Given the description of an element on the screen output the (x, y) to click on. 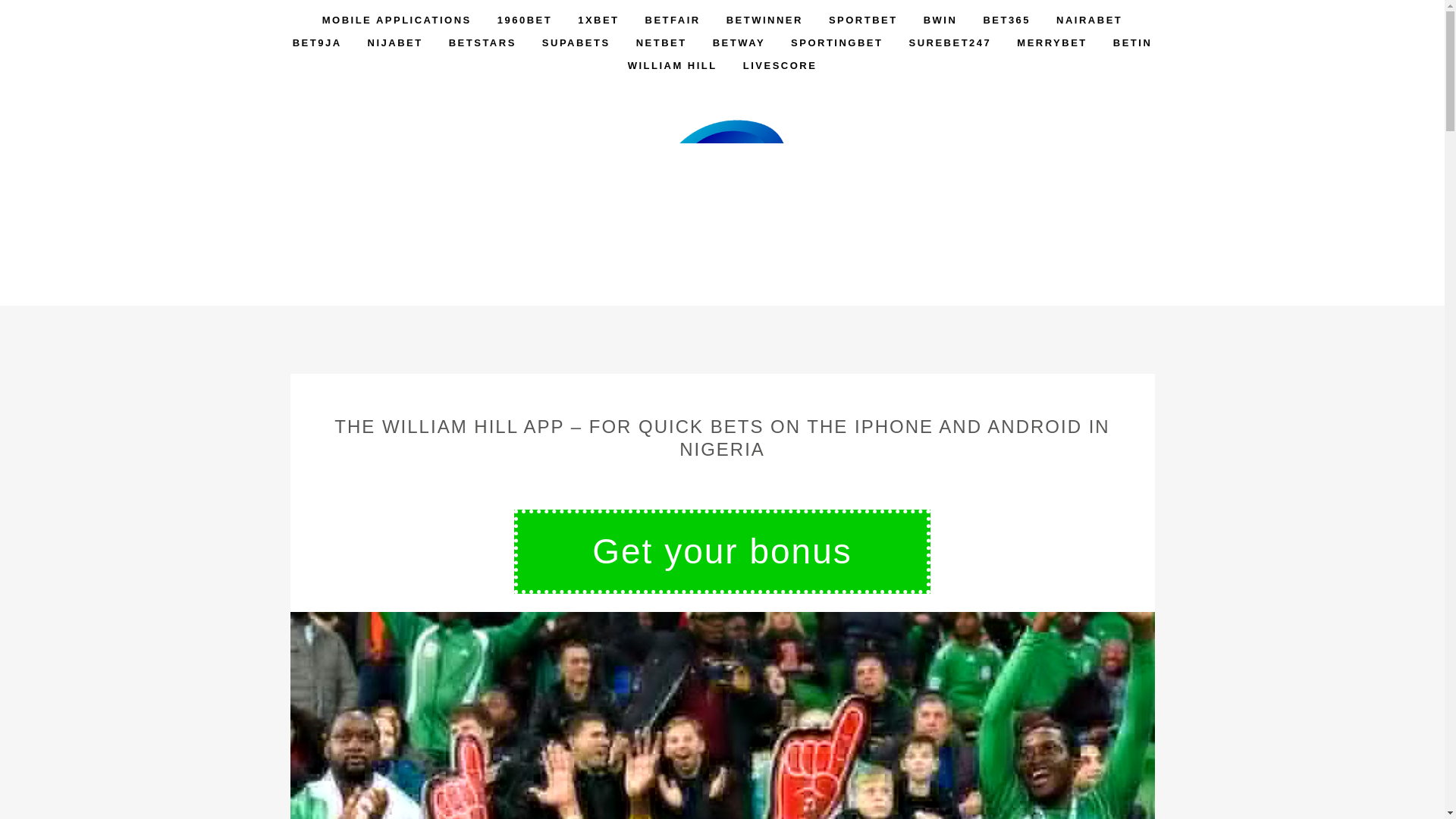
BETSTARS (482, 42)
LIVESCORE (779, 65)
WILLIAM HILL (672, 65)
BETFAIR (672, 20)
SUREBET247 (949, 42)
NAIRABET (1089, 20)
BETWAY (738, 42)
SPORTINGBET (836, 42)
BETIN (1133, 42)
BWIN (941, 20)
